Given the description of an element on the screen output the (x, y) to click on. 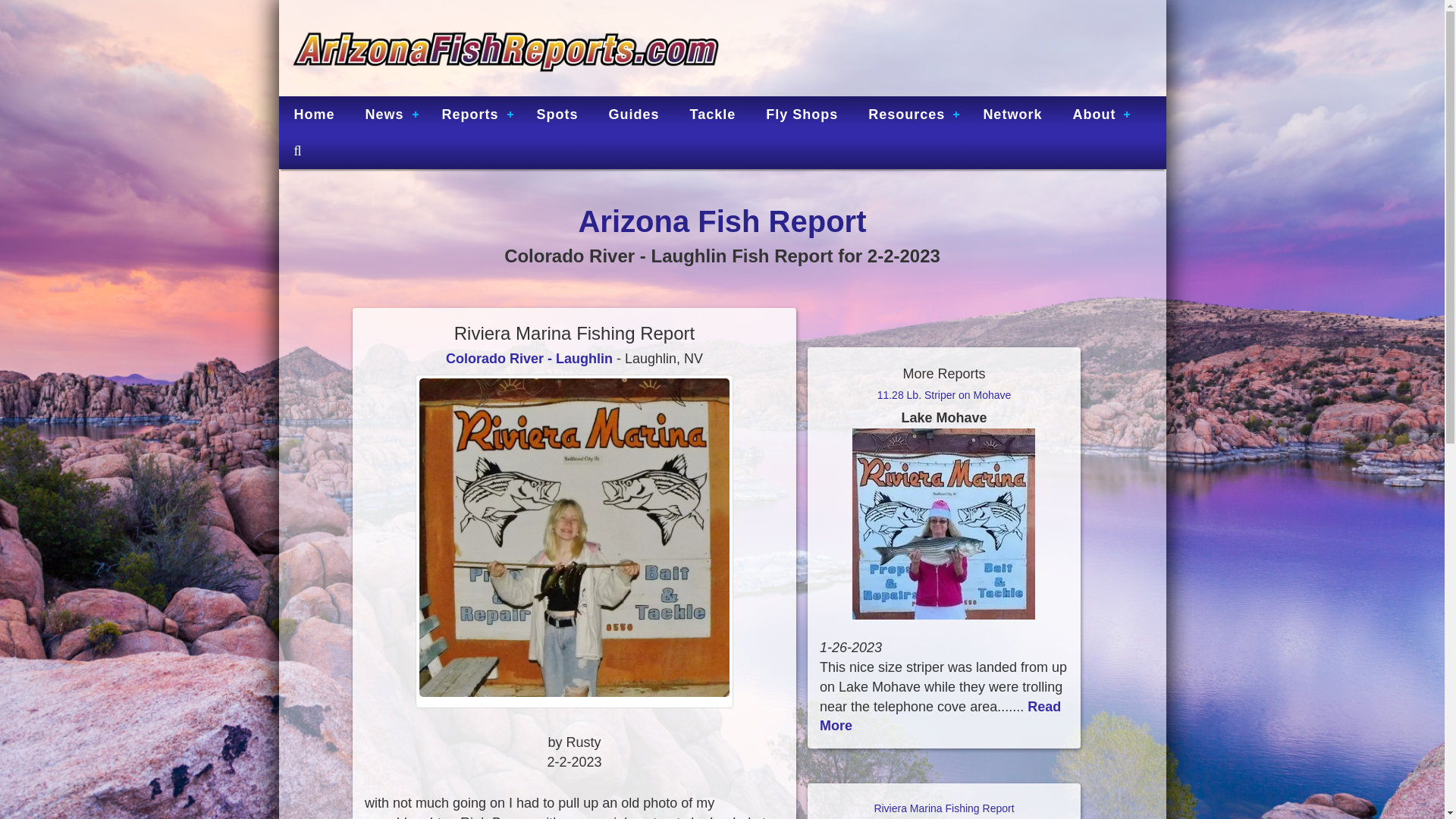
11.28 Lb. Striper on Mohave (943, 407)
Home (314, 114)
Network (1012, 114)
Tackle (713, 114)
Reports (473, 114)
Fly Shops (802, 114)
Riviera Marina Fishing Report (943, 811)
News (388, 114)
Read More (940, 716)
Spots (557, 114)
Colorado River - Laughlin (528, 358)
Resources (910, 114)
Guides (634, 114)
About (1097, 114)
